Given the description of an element on the screen output the (x, y) to click on. 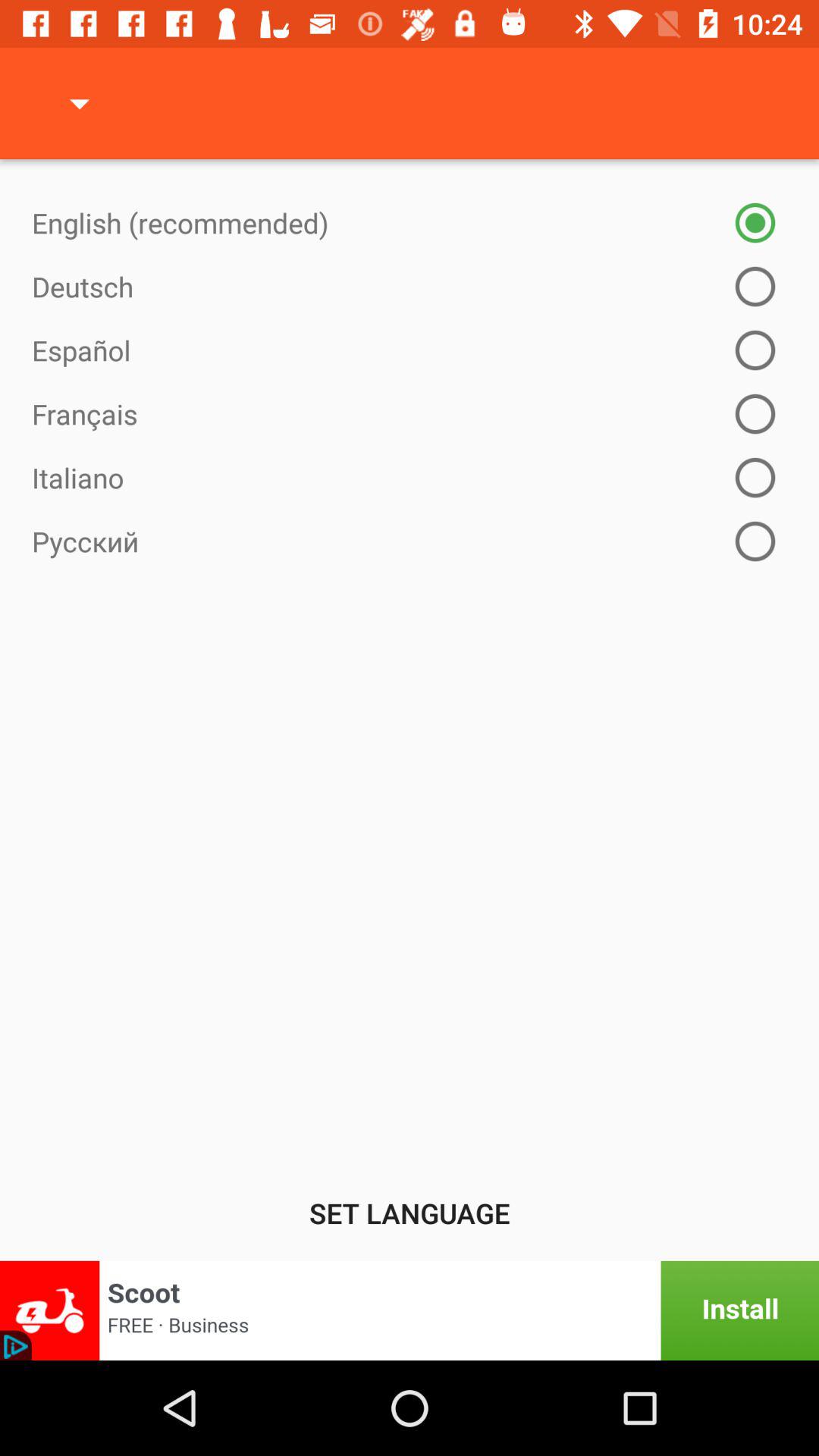
flip to set language (409, 1212)
